Given the description of an element on the screen output the (x, y) to click on. 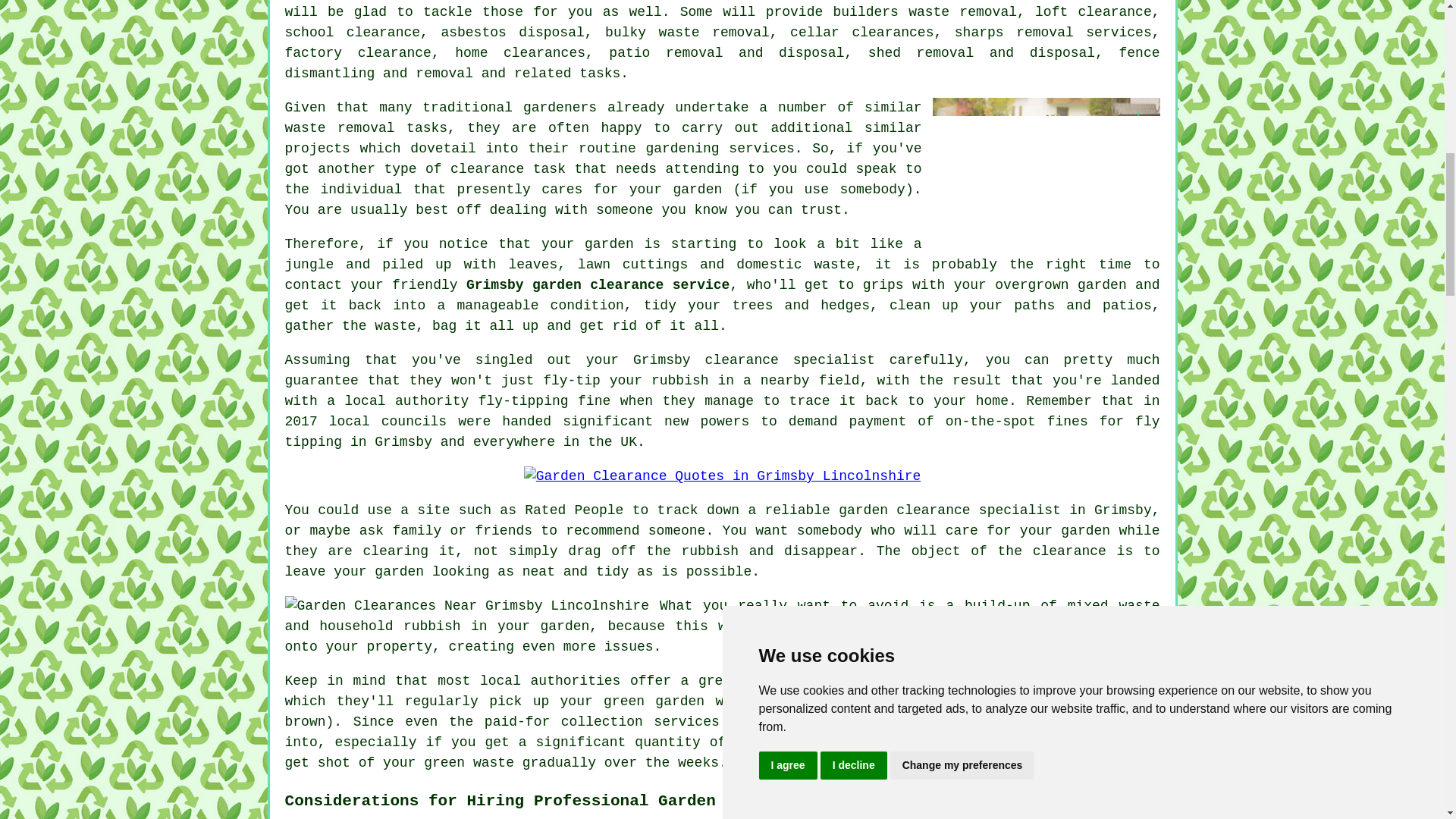
Garden Clearance Quotes in Grimsby Lincolnshire (722, 476)
clearance (486, 168)
Grimsby garden clearance service (597, 284)
family or friends (461, 530)
garden (697, 189)
gardeners (559, 107)
